Given the description of an element on the screen output the (x, y) to click on. 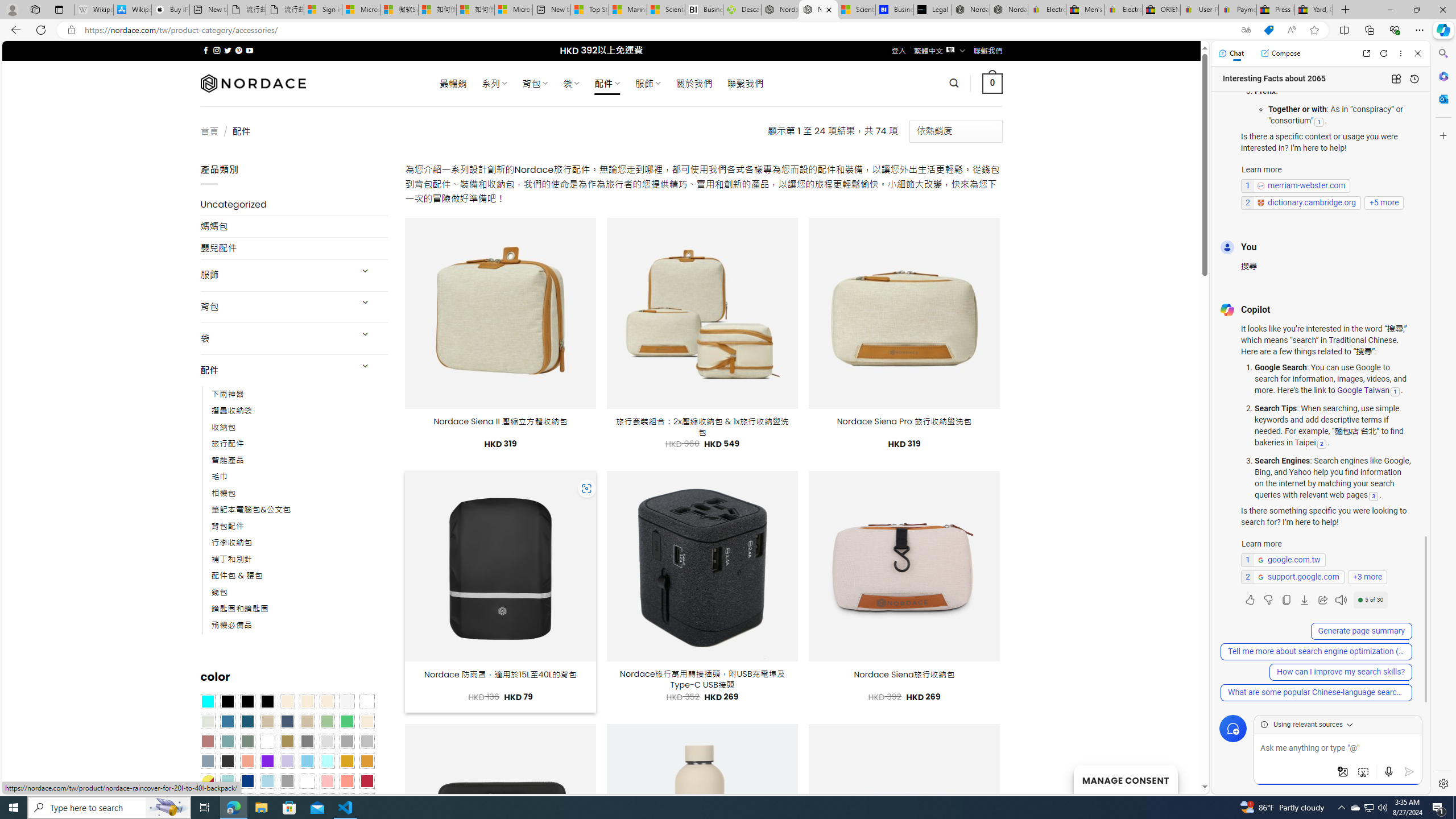
Press Room - eBay Inc. (1276, 9)
Minimize Search pane (1442, 53)
